Given the description of an element on the screen output the (x, y) to click on. 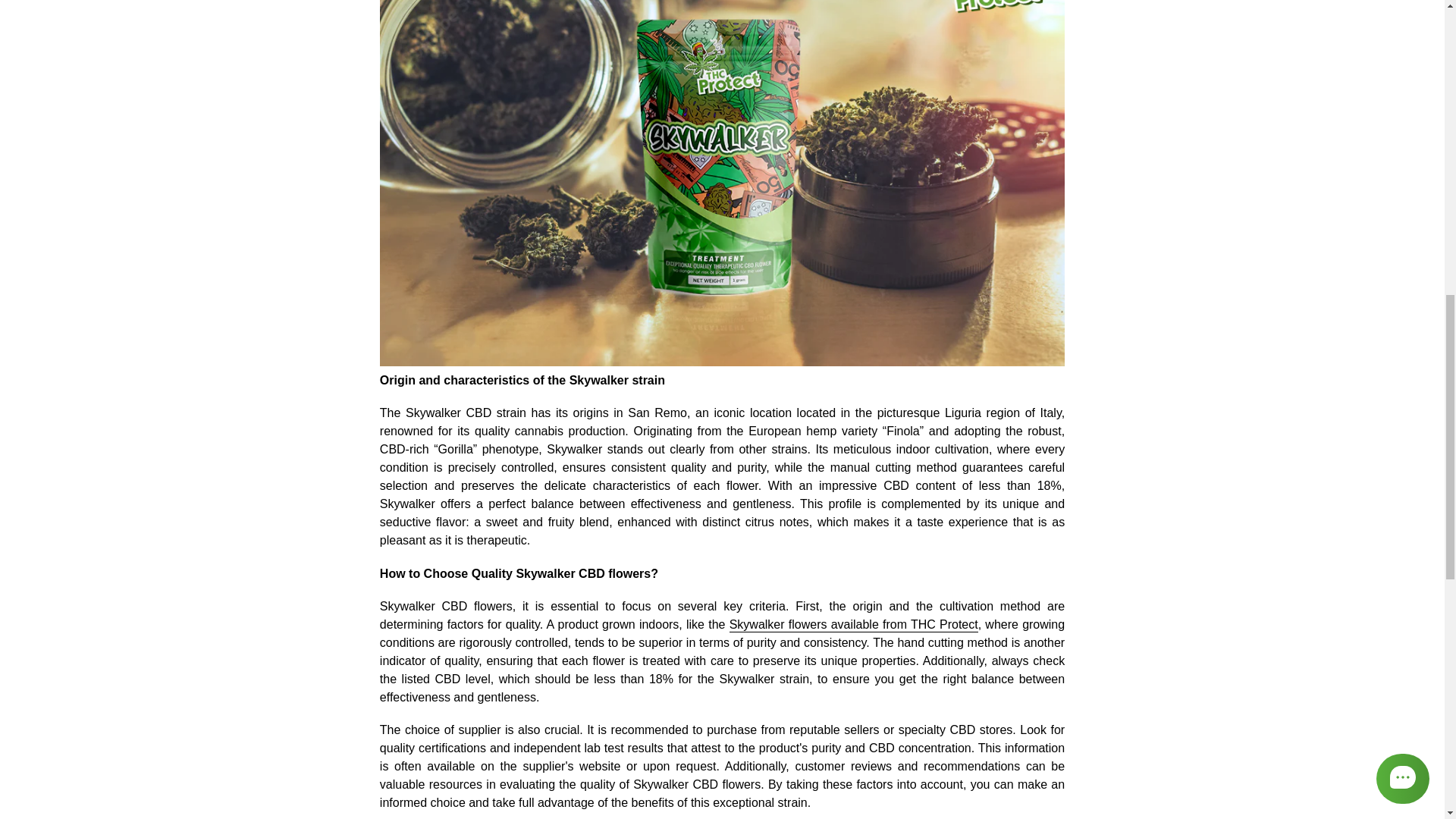
Skywalker flowers available from THC Protect (853, 625)
helpdesk-channel-iframe (1288, 155)
Skywalker flowers available from THC Protect (853, 625)
